Given the description of an element on the screen output the (x, y) to click on. 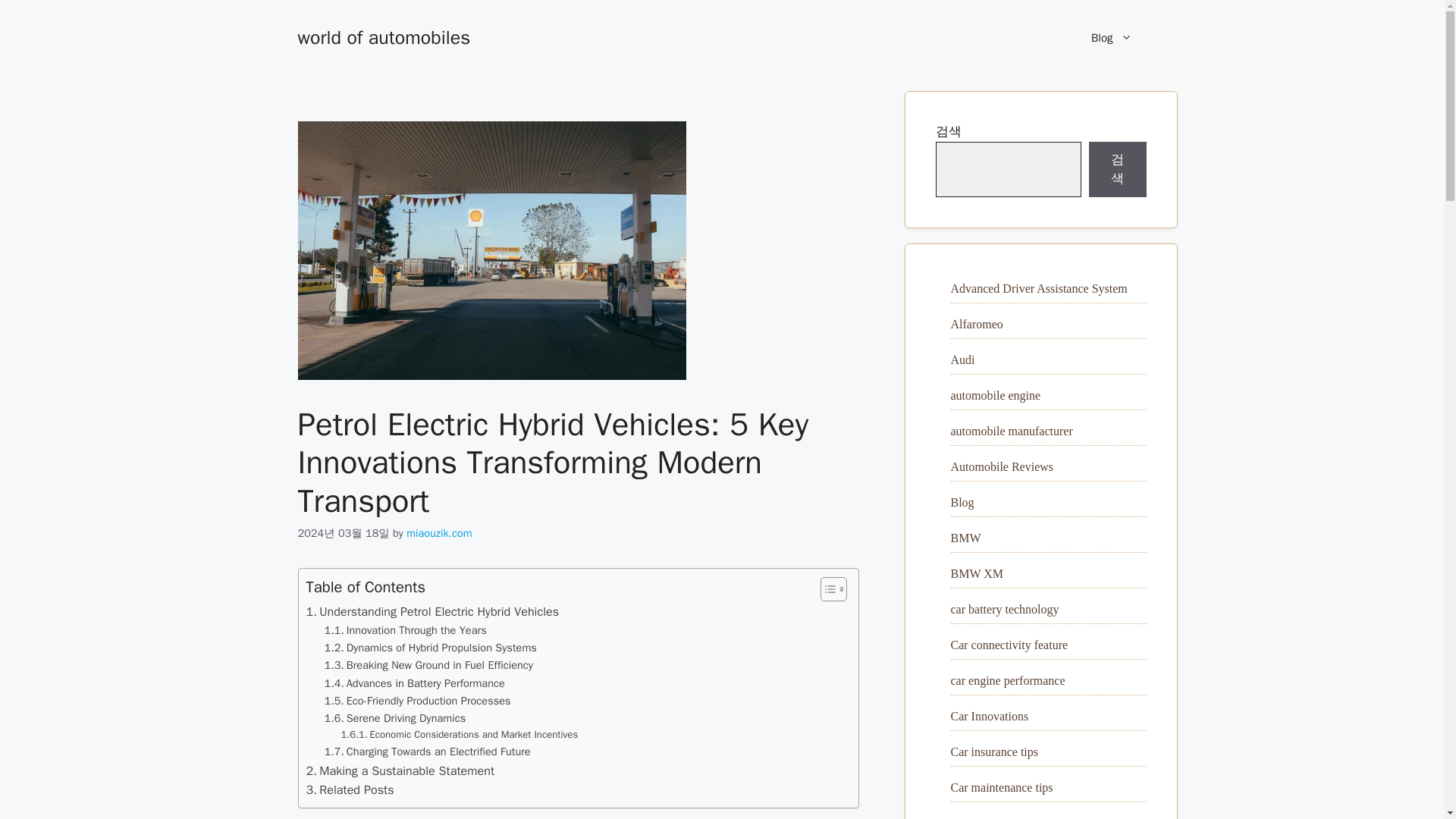
miaouzik.com (438, 532)
automobile engine (995, 394)
Breaking New Ground in Fuel Efficiency (428, 665)
Advanced Driver Assistance System (1038, 287)
Making a Sustainable Statement (400, 771)
Related Posts (349, 790)
Advances in Battery Performance (414, 683)
Innovation Through the Years (405, 630)
Understanding Petrol Electric Hybrid Vehicles (432, 611)
Innovation Through the Years (405, 630)
